Given the description of an element on the screen output the (x, y) to click on. 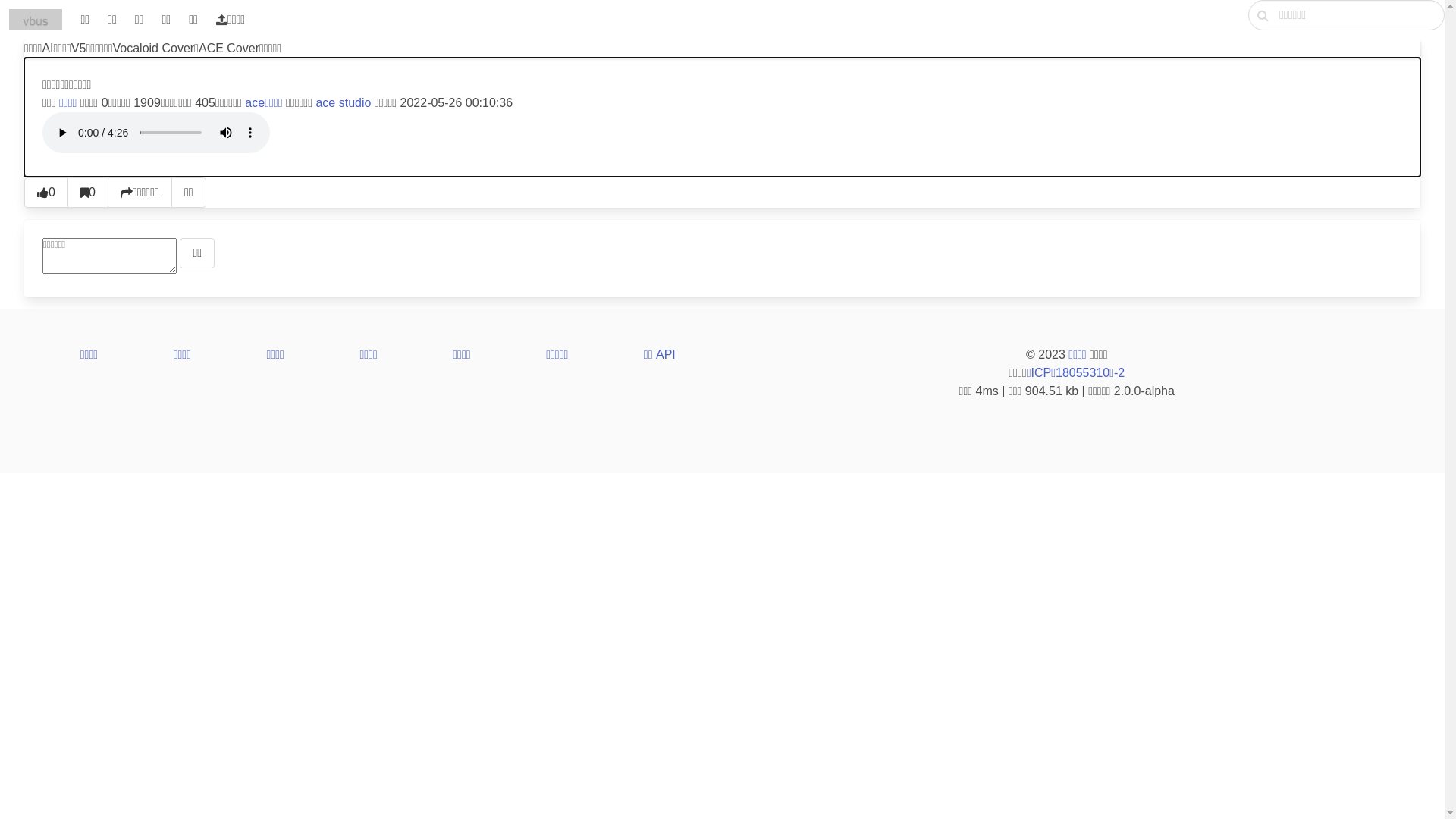
studio Element type: text (354, 102)
0 Element type: text (87, 192)
ace Element type: text (325, 102)
0 Element type: text (46, 192)
